Given the description of an element on the screen output the (x, y) to click on. 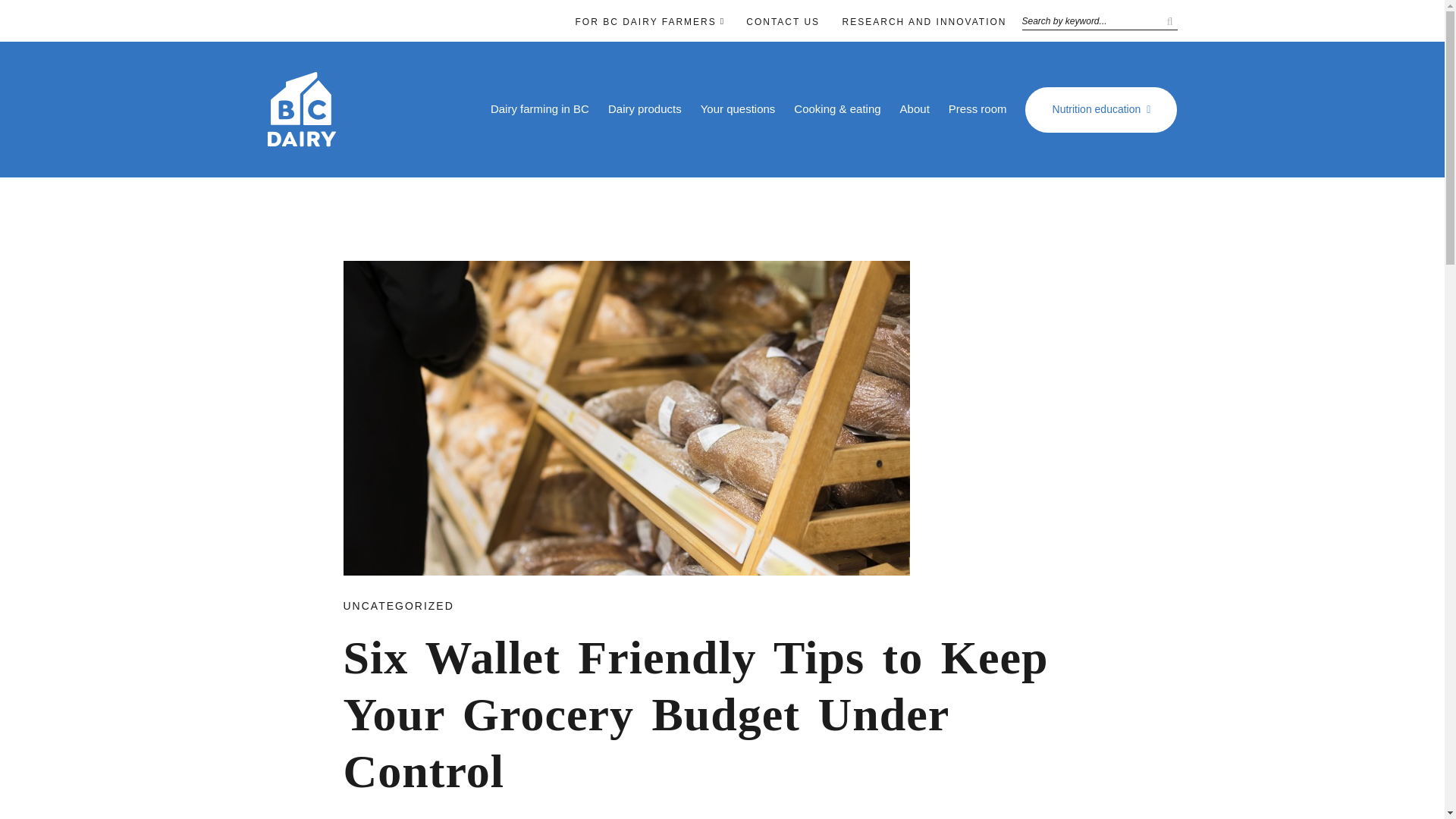
Dairy farming in BC (539, 109)
Press room (978, 109)
CONTACT US (782, 21)
Your questions (738, 109)
FOR BC DAIRY FARMERS (645, 21)
About (914, 109)
Nutrition education (1100, 108)
RESEARCH AND INNOVATION (925, 21)
BC Dairy (300, 139)
Dairy products (644, 109)
